Given the description of an element on the screen output the (x, y) to click on. 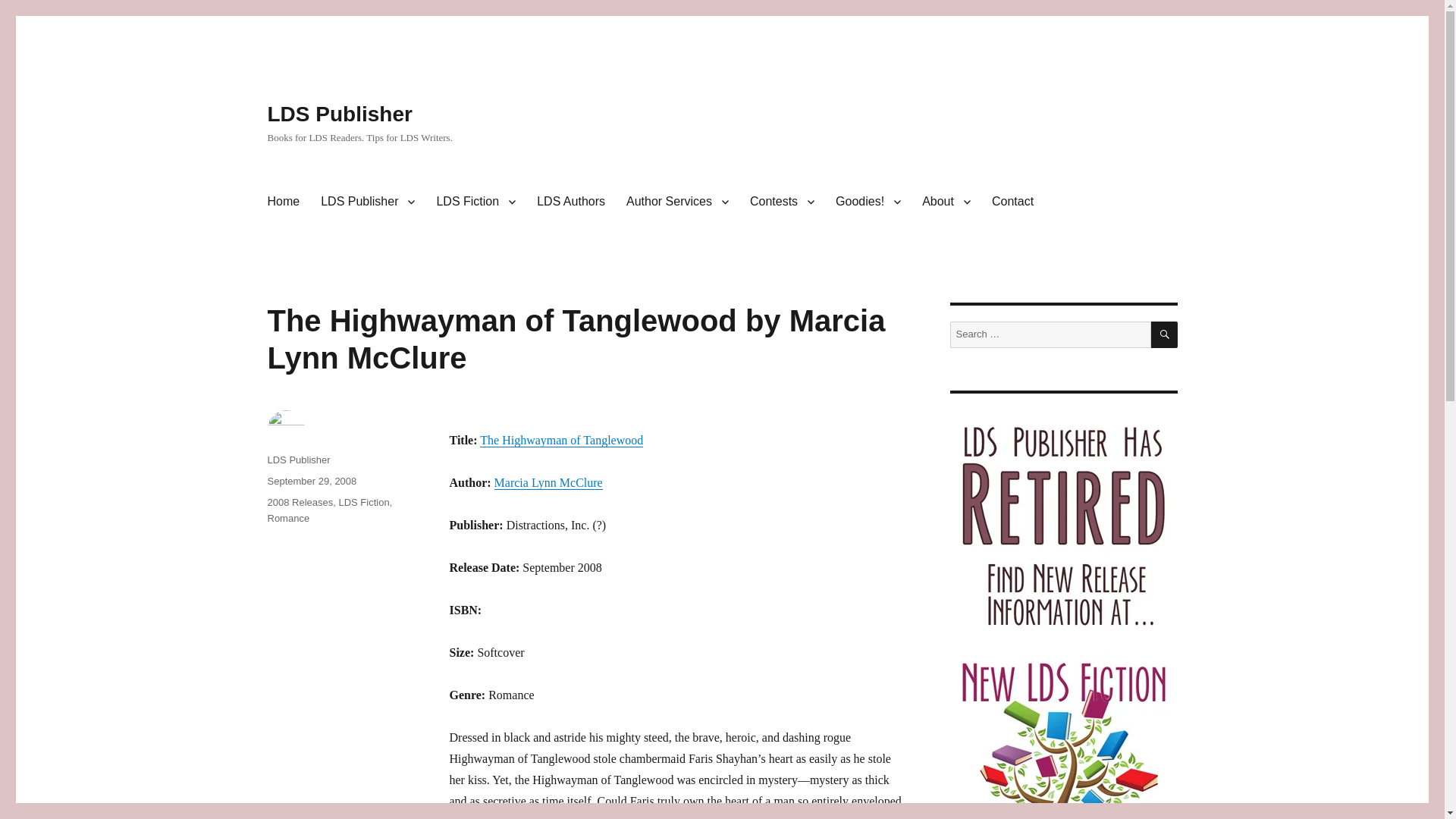
Home (283, 201)
LDS Publisher (339, 114)
LDS Fiction (475, 201)
LDS Publisher (367, 201)
